Given the description of an element on the screen output the (x, y) to click on. 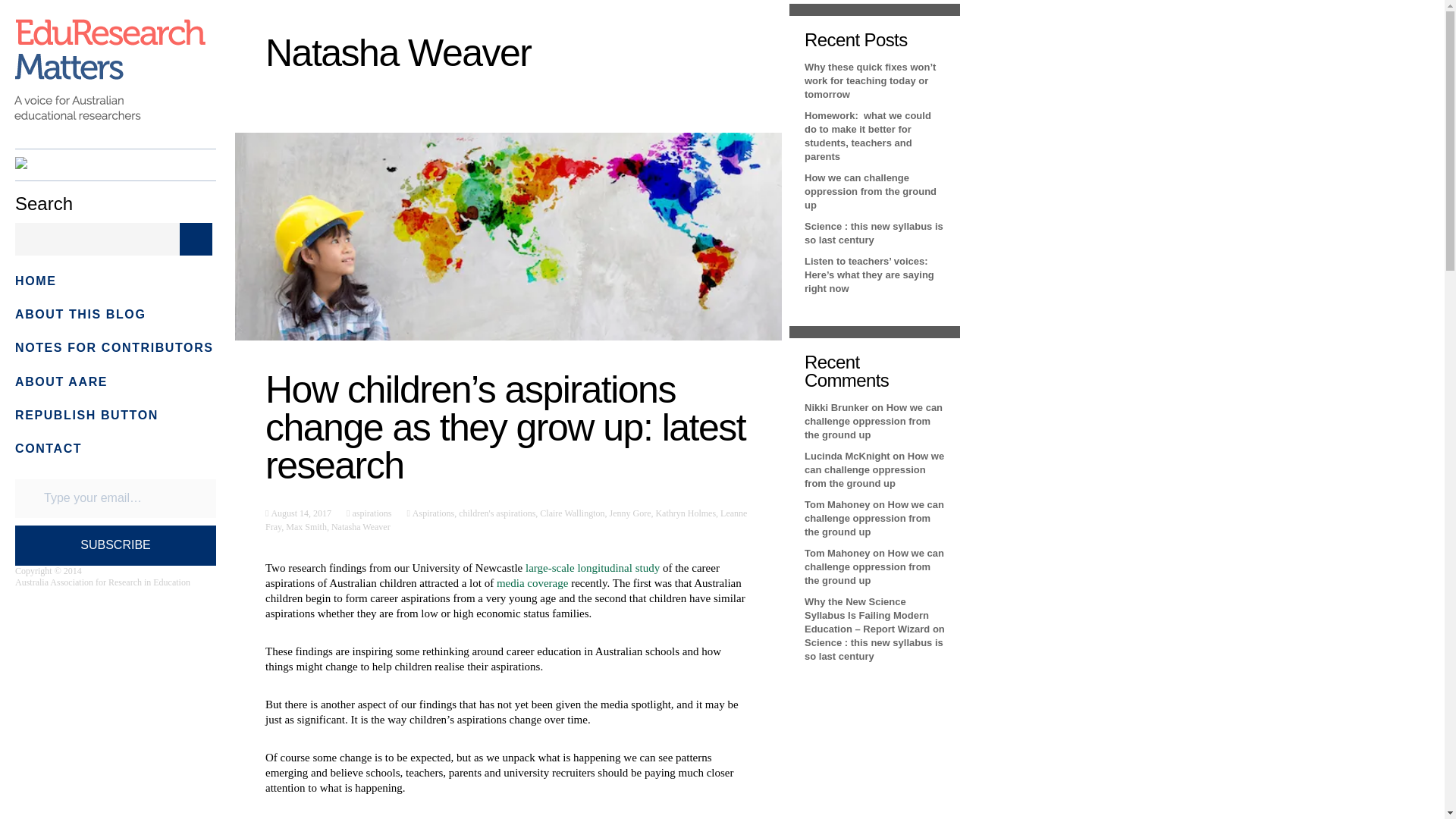
children's aspirations (496, 512)
Go (195, 238)
August 14, 2017 (299, 512)
Jenny Gore (629, 512)
Go (195, 238)
SUBSCRIBE (114, 545)
How we can challenge oppression from the ground up (874, 469)
Claire Wallington (572, 512)
How we can challenge oppression from the ground up (873, 421)
large-scale longitudinal study (593, 567)
